Given the description of an element on the screen output the (x, y) to click on. 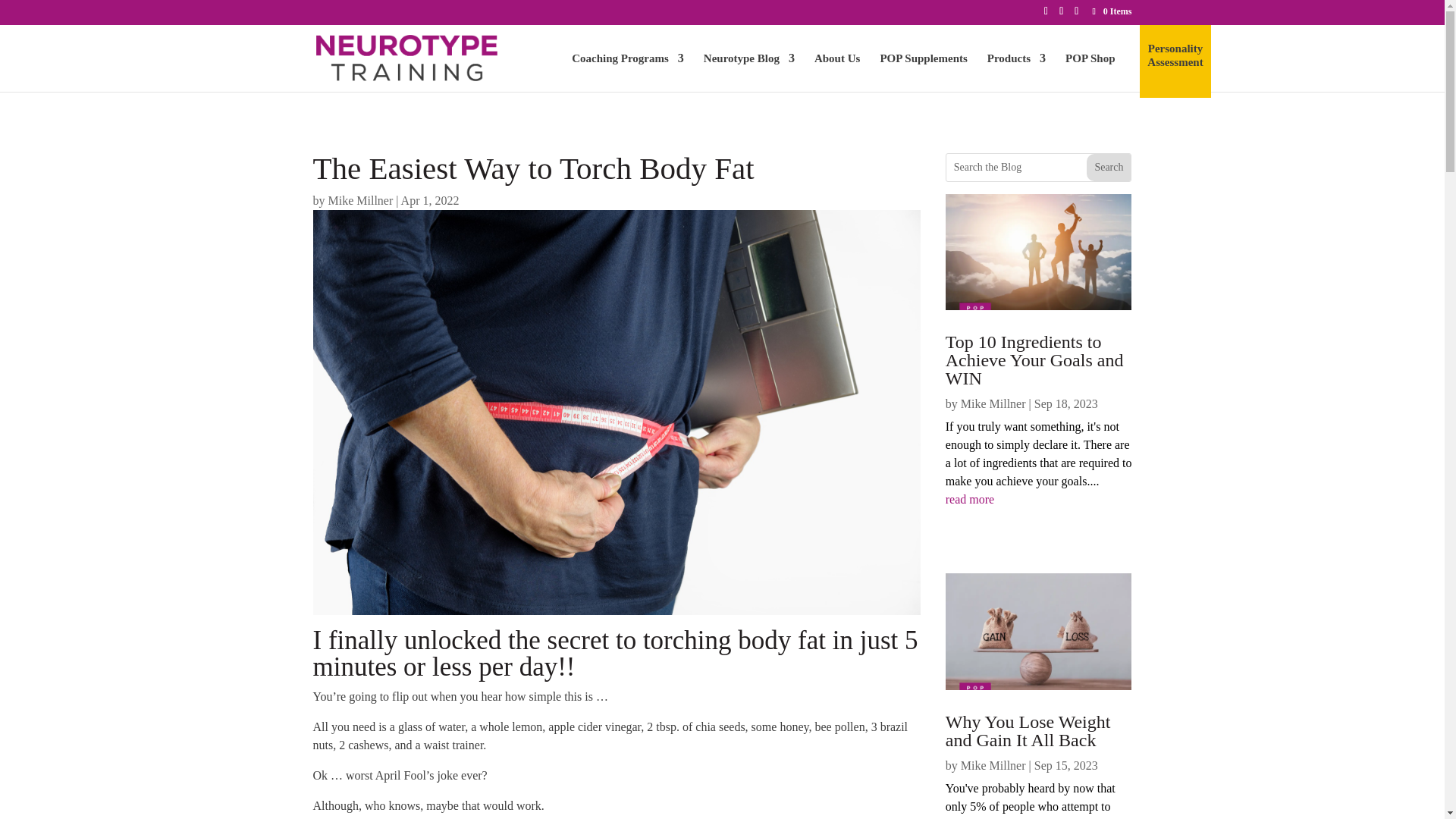
Top 10 Ingredients to Achieve Your Goals and WIN (1034, 360)
Personality Assessment (1174, 68)
About Us (836, 71)
Mike Millner (360, 200)
Mike Millner (993, 403)
Neurotype Blog (748, 71)
Why You Lose Weight and Gain It All Back (1027, 730)
read more (1038, 499)
Search (1108, 166)
